Given the description of an element on the screen output the (x, y) to click on. 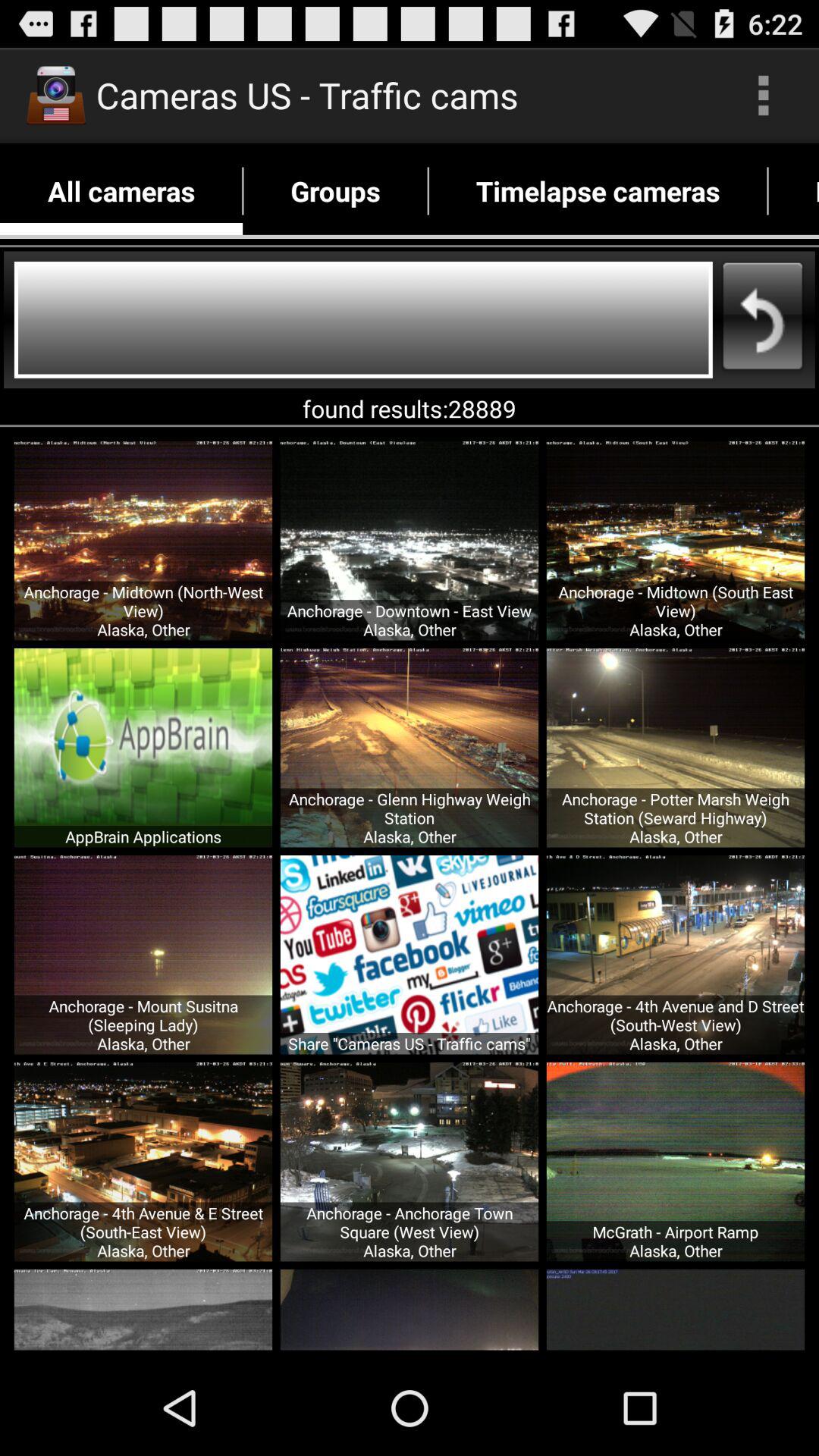
tap app below the cameras us traffic icon (335, 190)
